Given the description of an element on the screen output the (x, y) to click on. 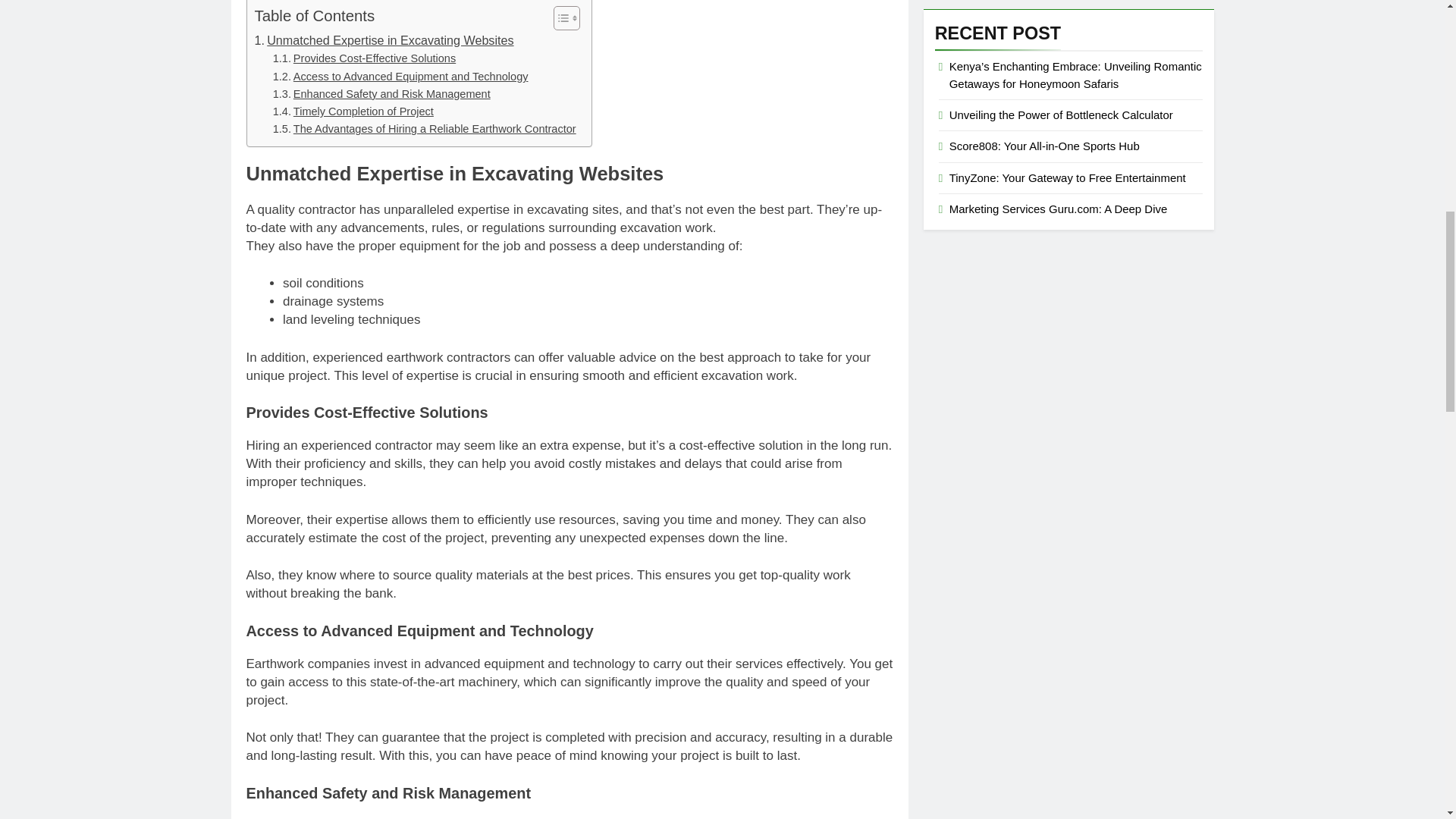
Enhanced Safety and Risk Management (381, 94)
The Advantages of Hiring a Reliable Earthwork Contractor (424, 129)
Provides Cost-Effective Solutions (364, 58)
Unmatched Expertise in Excavating Websites (383, 39)
Timely Completion of Project (353, 111)
Access to Advanced Equipment and Technology (400, 76)
Unmatched Expertise in Excavating Websites (383, 39)
Timely Completion of Project (353, 111)
The Advantages of Hiring a Reliable Earthwork Contractor (424, 129)
Enhanced Safety and Risk Management (381, 94)
Access to Advanced Equipment and Technology (400, 76)
Provides Cost-Effective Solutions (364, 58)
